Given the description of an element on the screen output the (x, y) to click on. 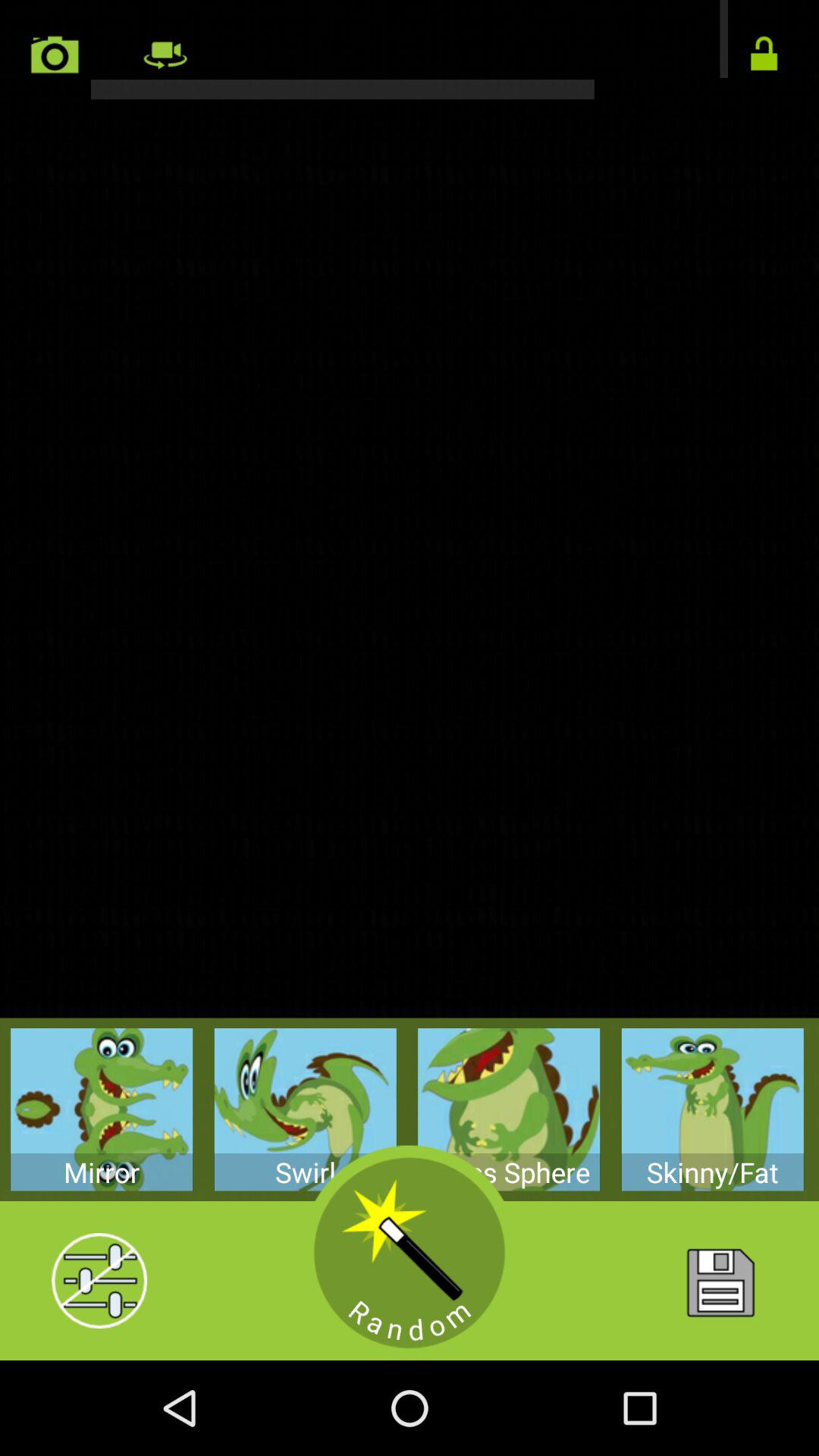
switch camera (164, 54)
